Given the description of an element on the screen output the (x, y) to click on. 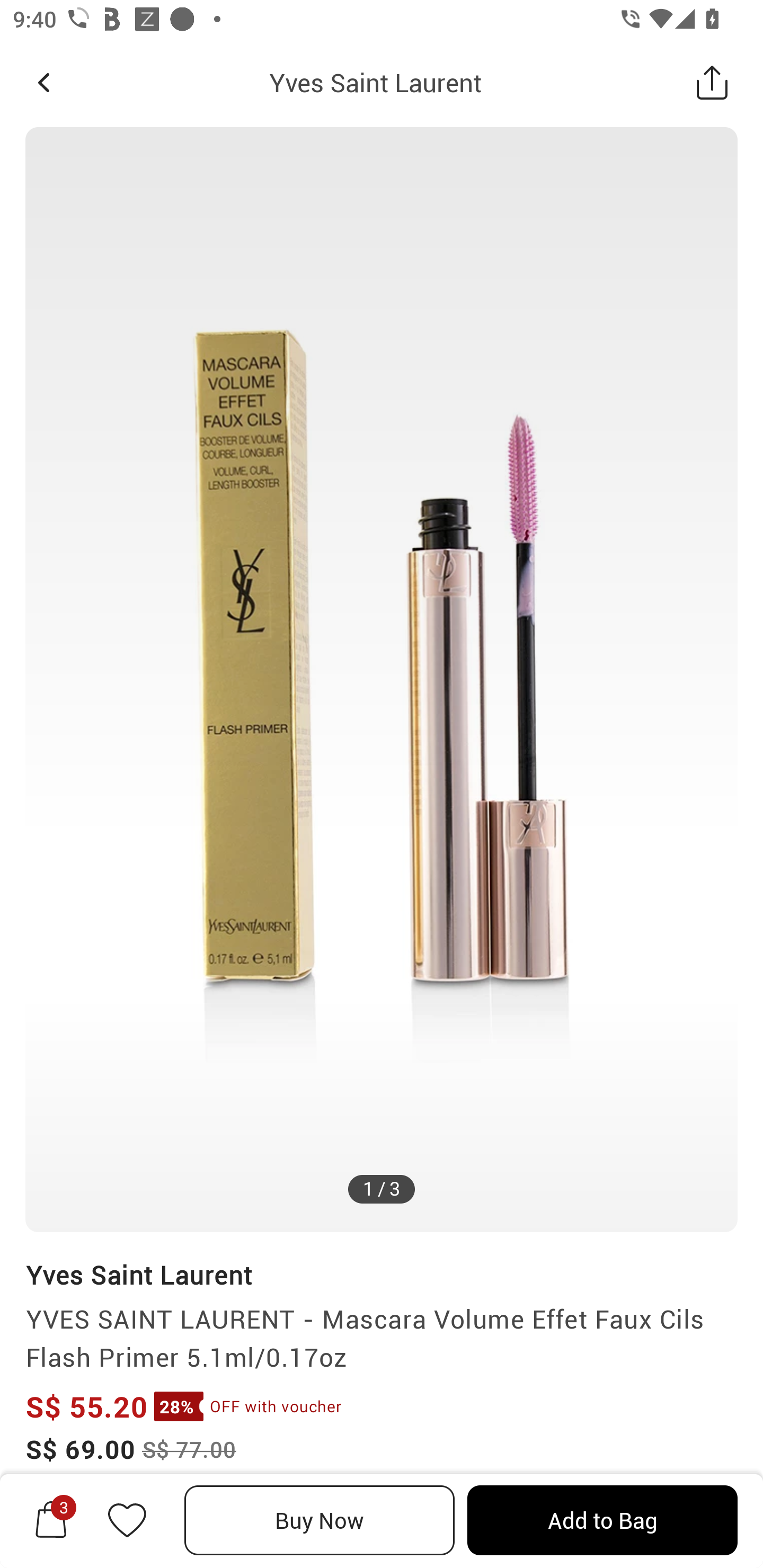
Yves Saint Laurent (375, 82)
Share this Product (711, 82)
Yves Saint Laurent (138, 1274)
Buy Now (319, 1519)
Add to Bag (601, 1519)
3 (50, 1520)
